Given the description of an element on the screen output the (x, y) to click on. 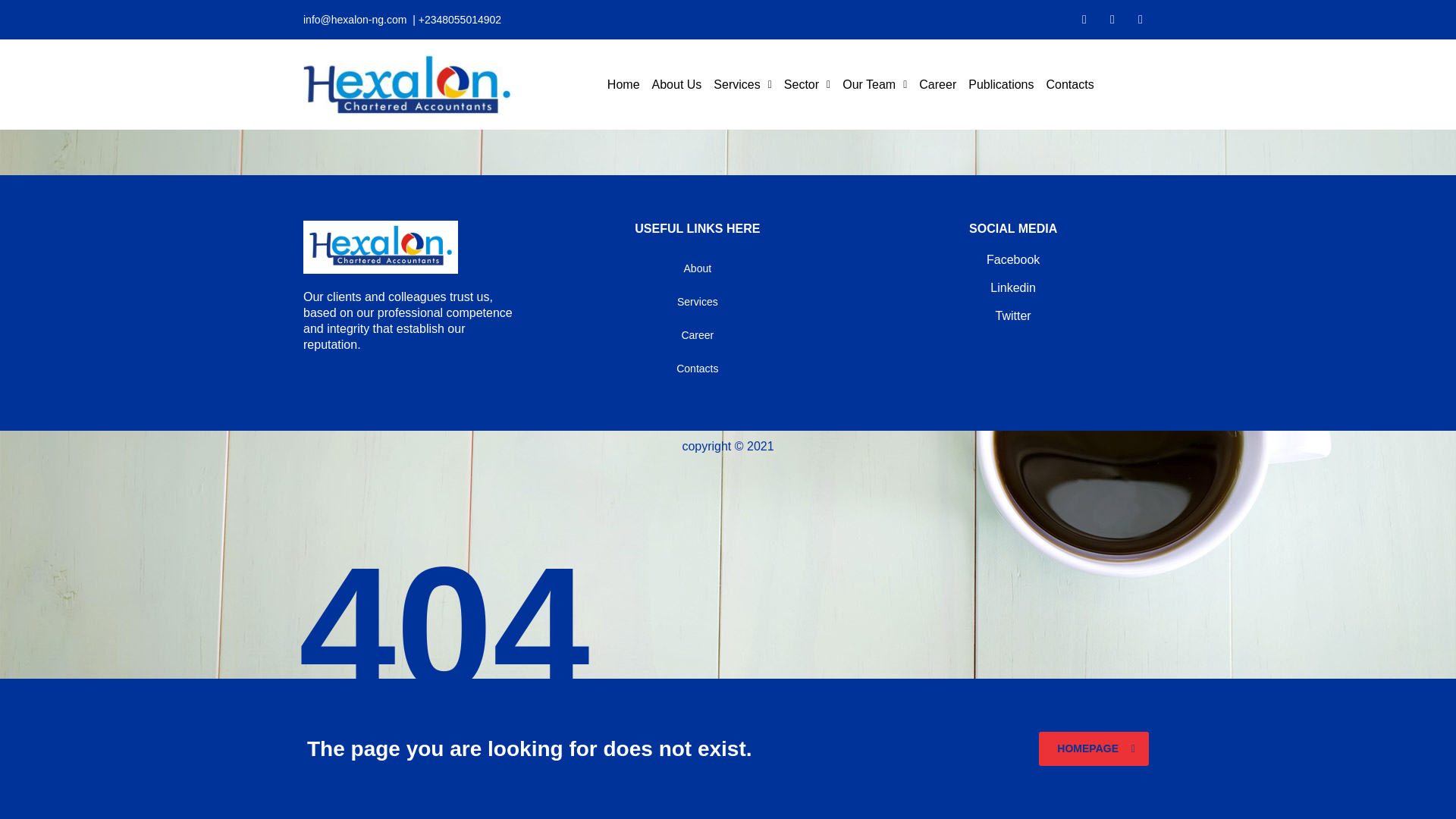
Services (742, 84)
Home (623, 84)
About Us (676, 84)
Our Team (873, 84)
Sector (806, 84)
